Given the description of an element on the screen output the (x, y) to click on. 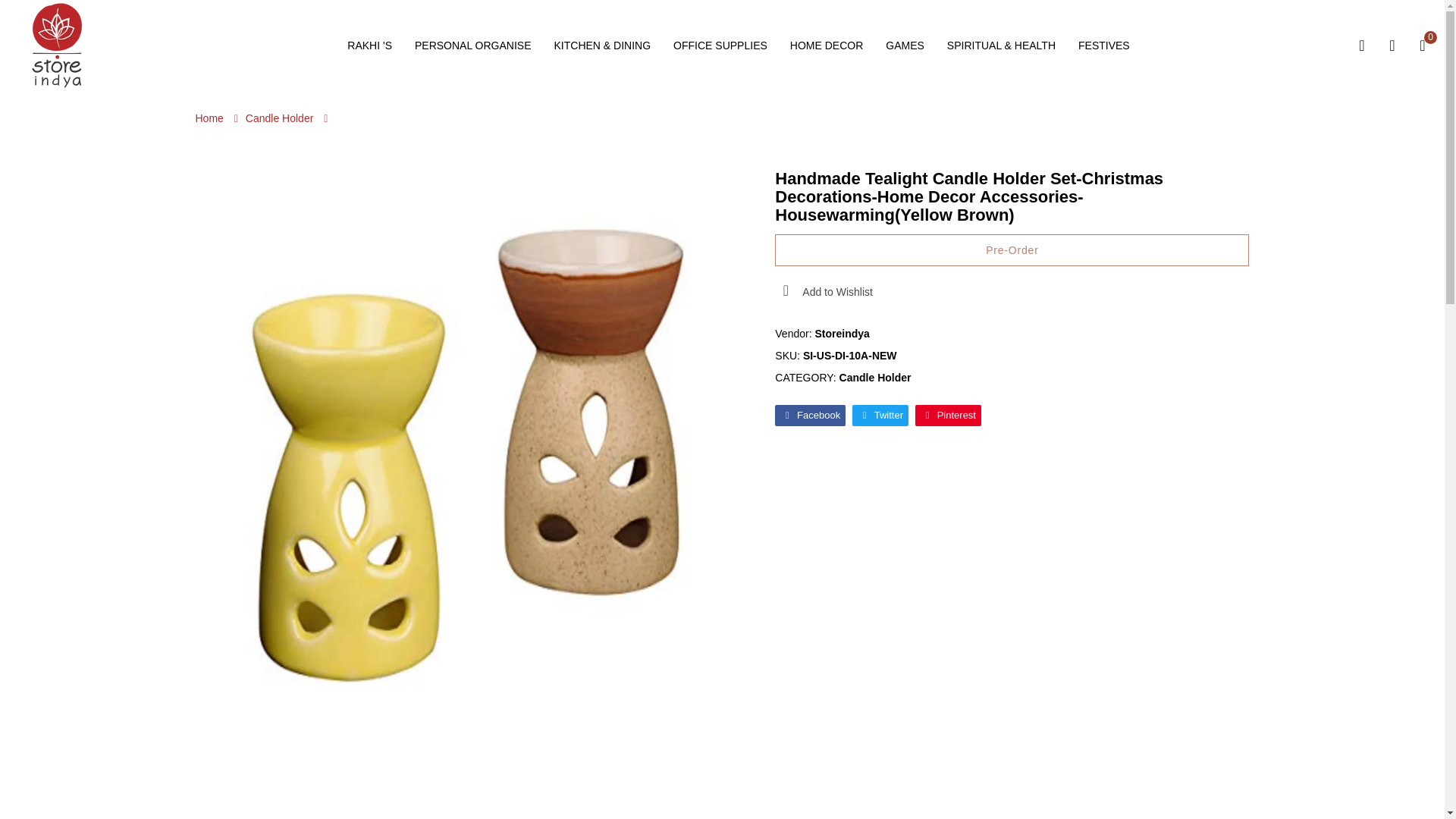
OFFICE SUPPLIES (719, 45)
RAKHI 'S (369, 45)
HOME DECOR (826, 45)
StoreIndya (56, 44)
My Bag (1422, 45)
FESTIVES (1103, 45)
Storeindya (841, 333)
GAMES (904, 45)
Add to Wishlist (823, 291)
Facebook (809, 414)
Pinterest (948, 414)
Twitter (879, 414)
PERSONAL ORGANISE (472, 45)
